Given the description of an element on the screen output the (x, y) to click on. 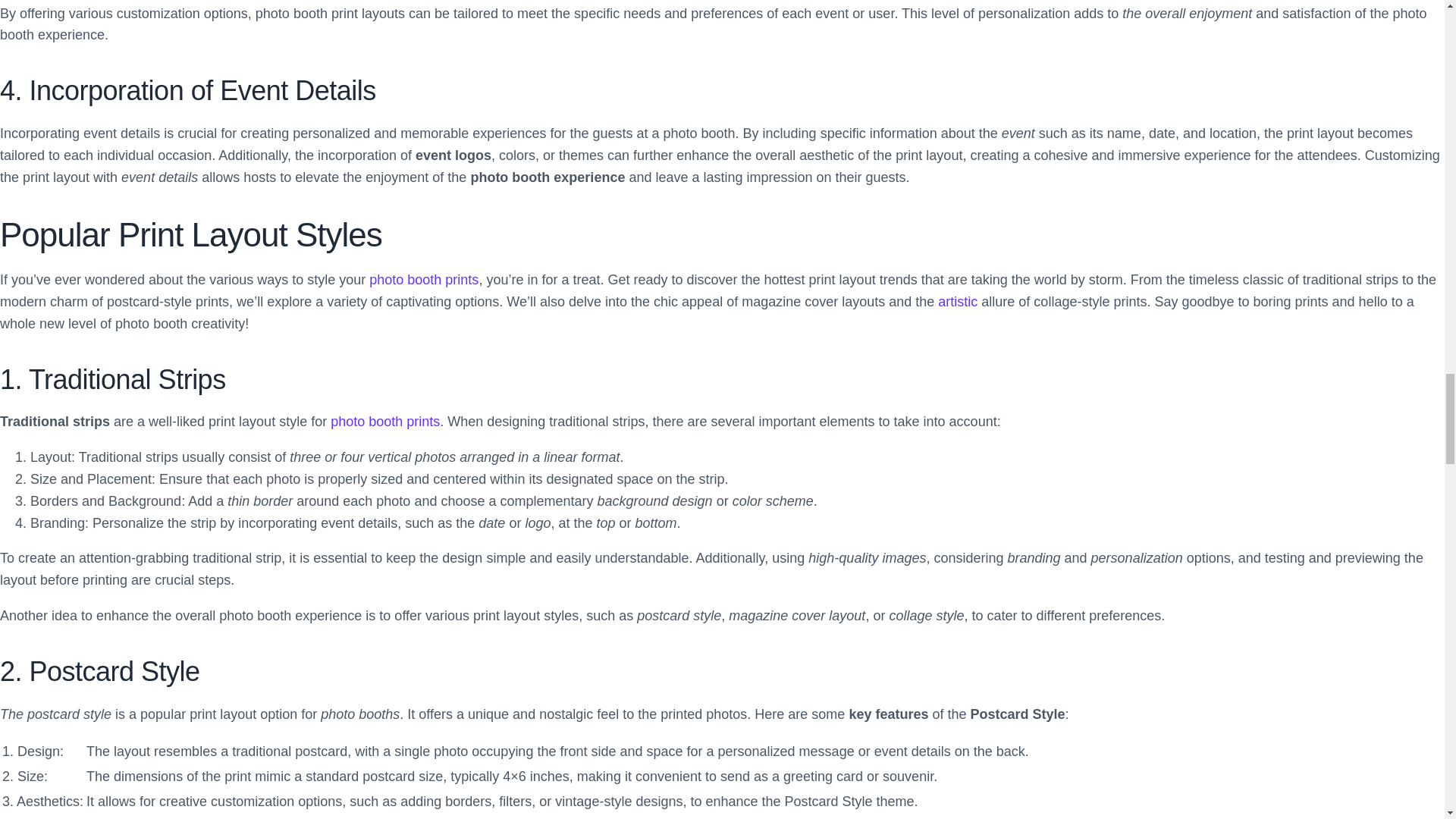
artistic (956, 301)
photo booth prints (424, 279)
photo booth prints (384, 421)
photo booth prints (384, 421)
photo booth prints (424, 279)
artistic (956, 301)
